Given the description of an element on the screen output the (x, y) to click on. 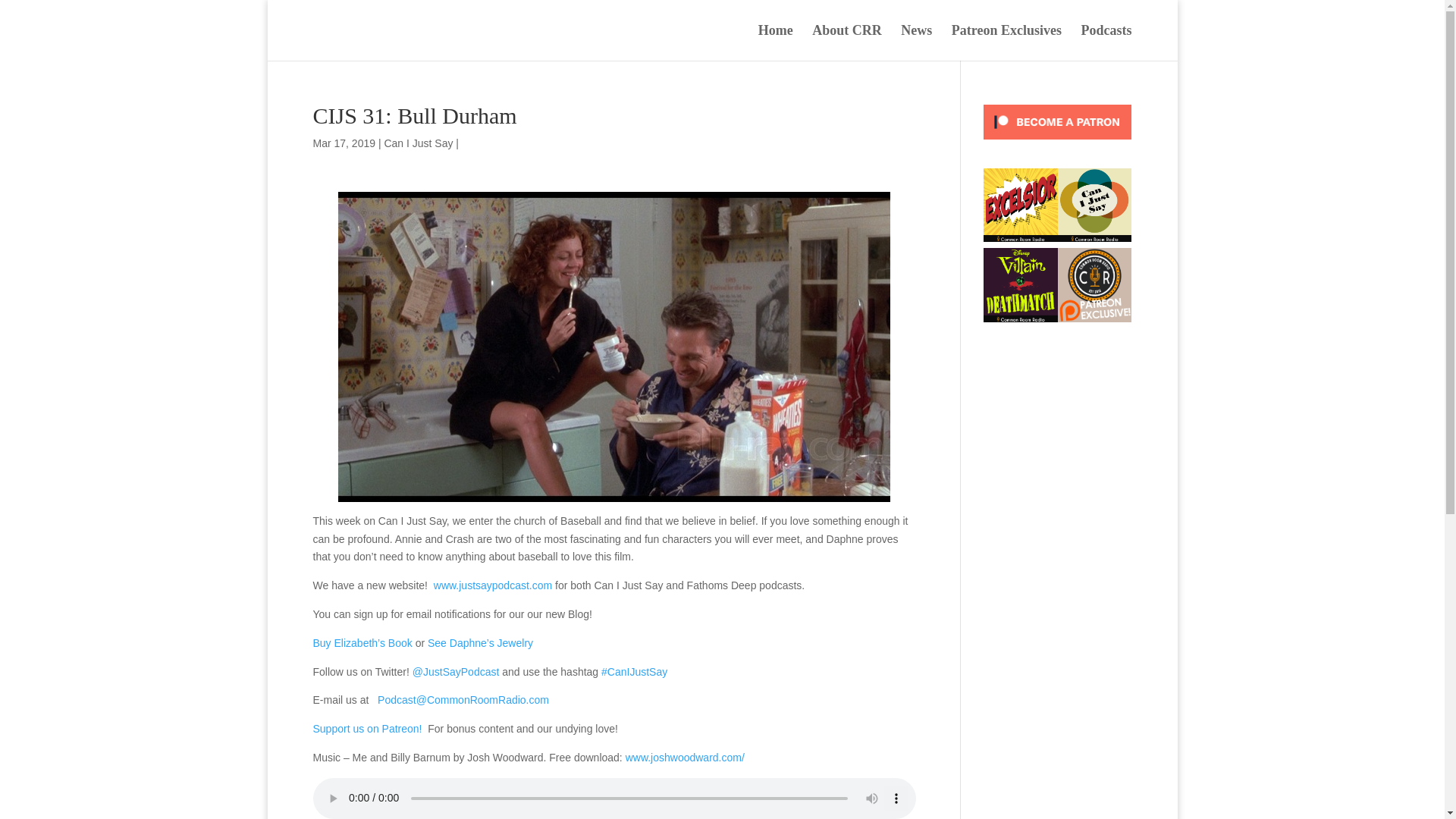
Can I Just Say (418, 143)
Support us on Patreon! (367, 728)
Patreon Exclusives (1006, 42)
Home (775, 42)
Podcasts (1106, 42)
About CRR (847, 42)
www.justsaypodcast.com (492, 585)
